Given the description of an element on the screen output the (x, y) to click on. 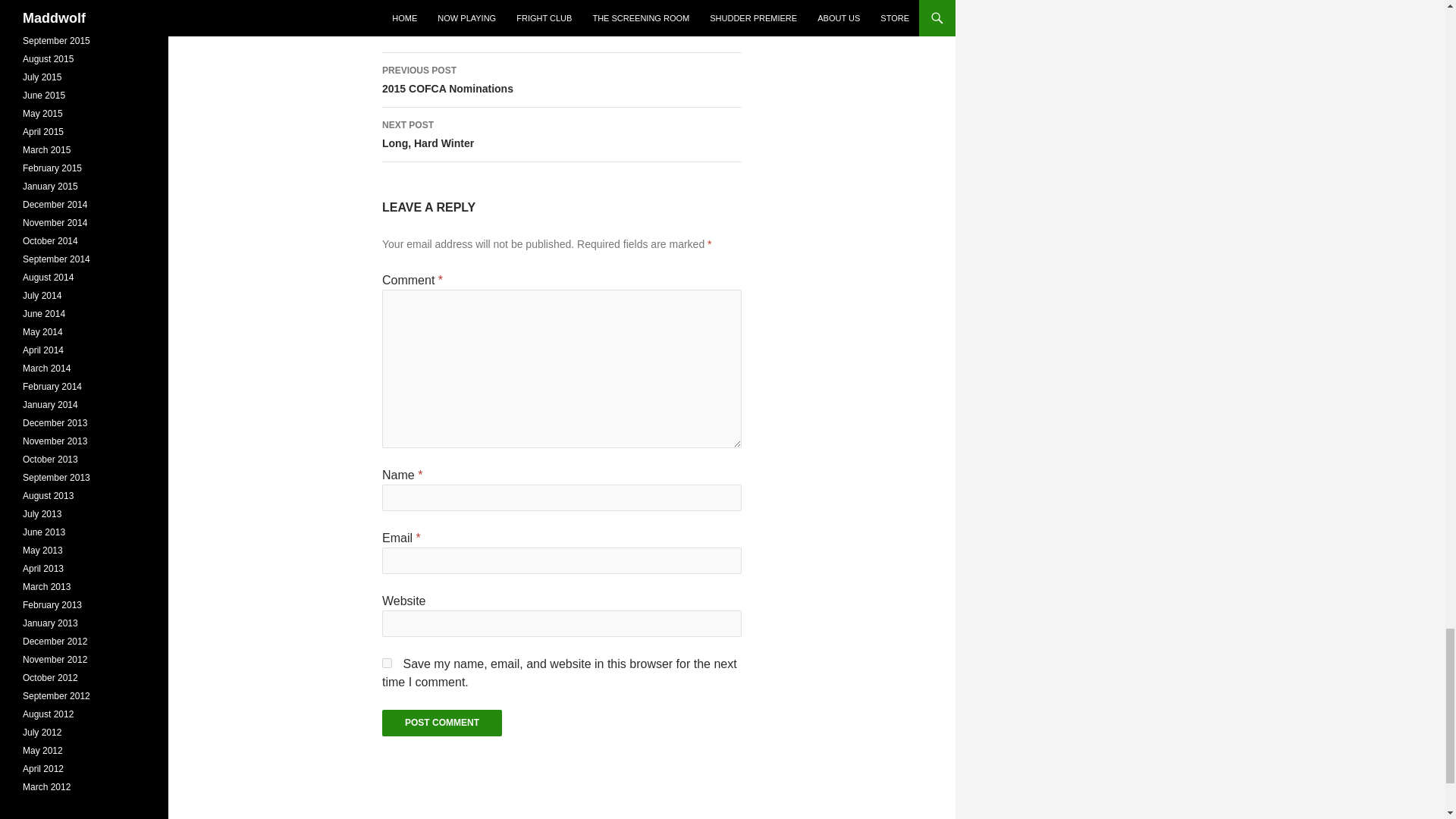
SCANNERS (227, 7)
Post Comment (561, 80)
Post Comment (441, 723)
THE DEAD ZONE (441, 723)
yes (363, 7)
THEY CAME FROM WITHIN (386, 663)
SHIVERS (472, 7)
